Given the description of an element on the screen output the (x, y) to click on. 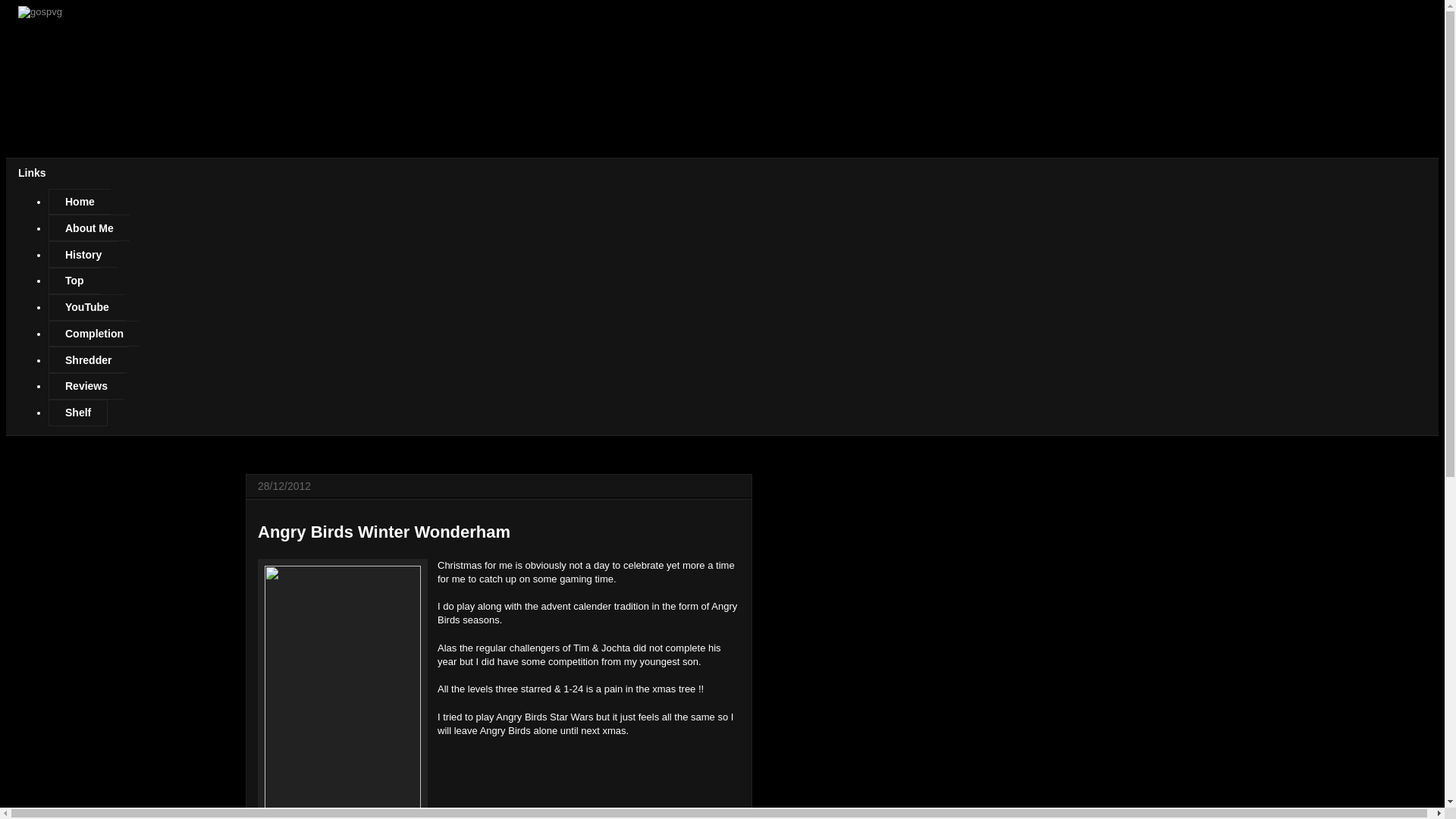
Top (74, 280)
About Me (88, 227)
Shelf (77, 412)
Reviews (85, 386)
Completion (93, 334)
Shredder (88, 359)
Home (79, 202)
History (82, 253)
YouTube (86, 307)
